Given the description of an element on the screen output the (x, y) to click on. 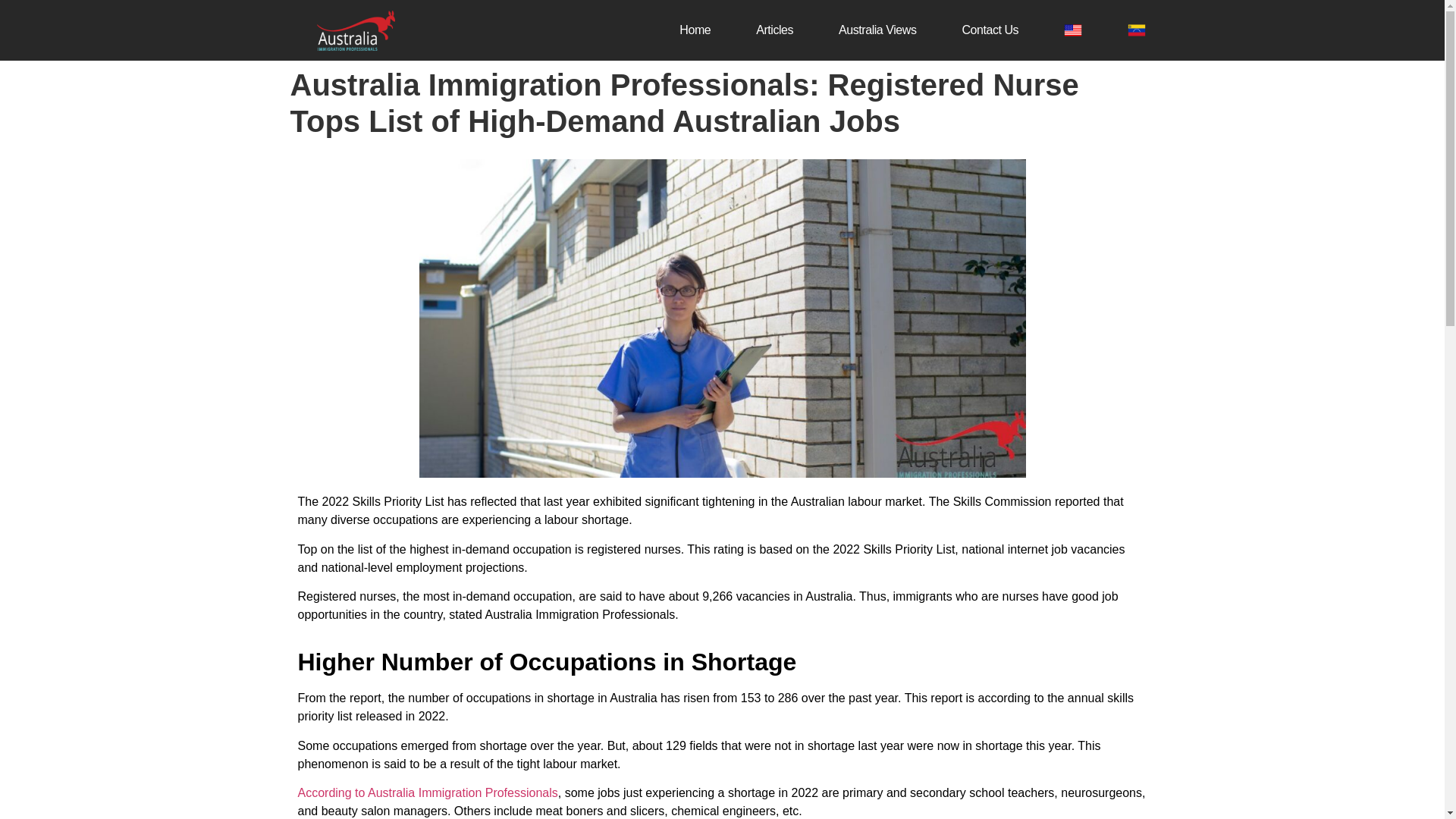
Home (694, 30)
According to Australia Immigration Professionals (427, 792)
Contact Us (989, 30)
Articles (774, 30)
Australia Views (877, 30)
